Given the description of an element on the screen output the (x, y) to click on. 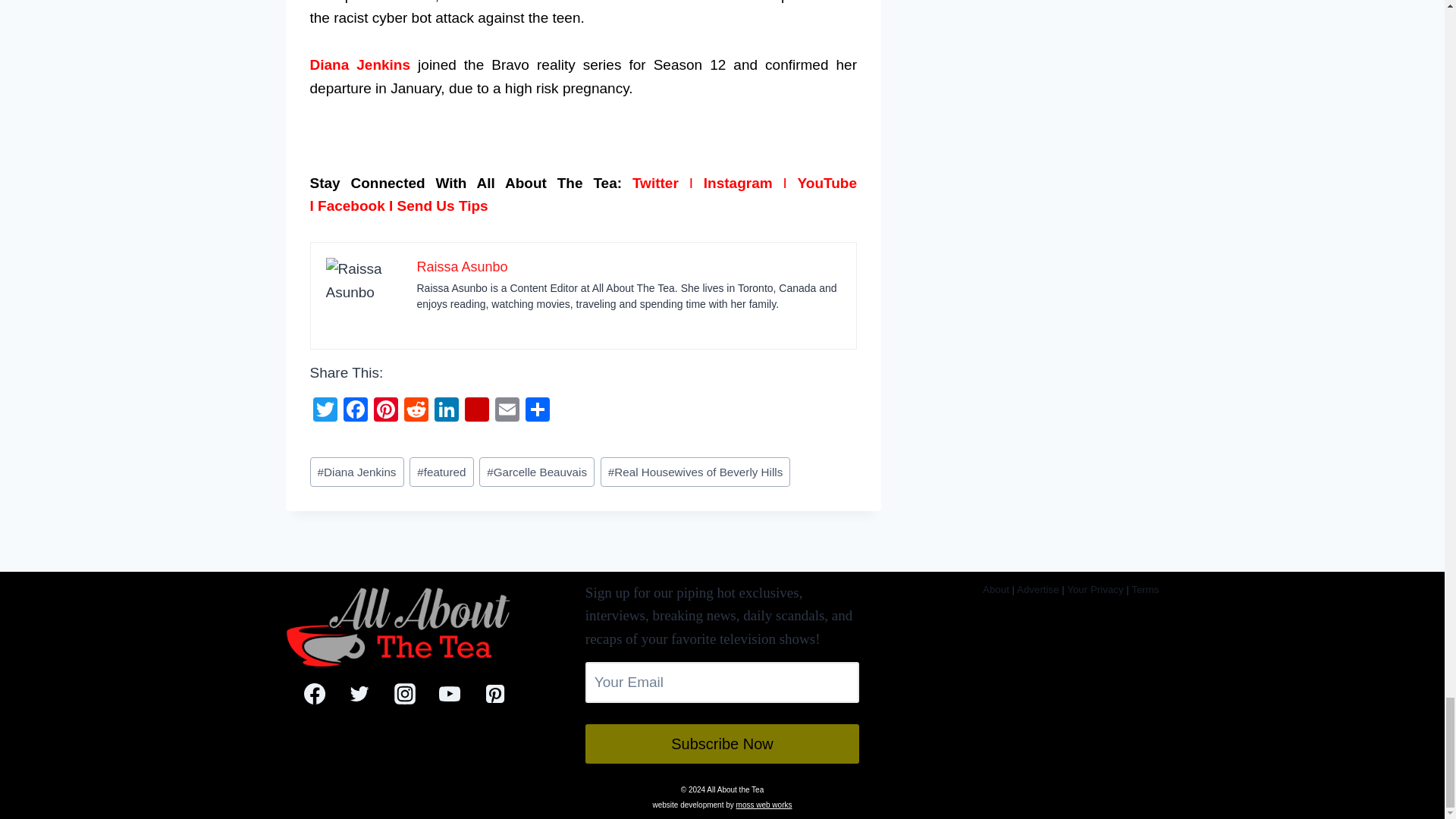
Flipboard (476, 411)
Twitter (323, 411)
Facebook (354, 411)
Pinterest (384, 411)
Diana Jenkins (359, 64)
Reddit (415, 411)
Twitter (654, 182)
LinkedIn (445, 411)
Instagram (738, 182)
